Given the description of an element on the screen output the (x, y) to click on. 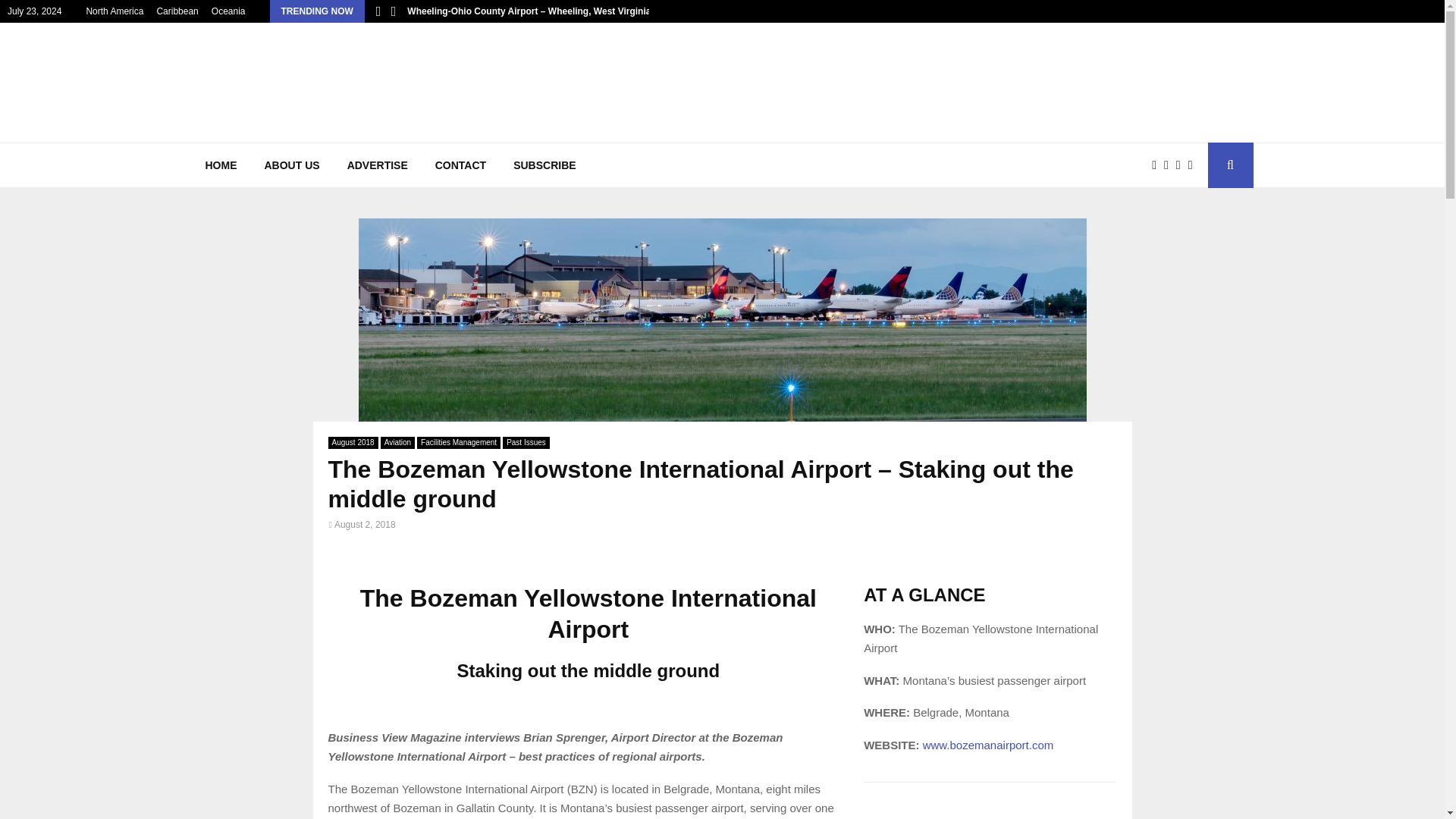
Oceania (228, 11)
SUBSCRIBE (544, 165)
ABOUT US (291, 165)
ADVERTISE (377, 165)
North America (113, 11)
CONTACT (460, 165)
HOME (220, 165)
Caribbean (176, 11)
